Given the description of an element on the screen output the (x, y) to click on. 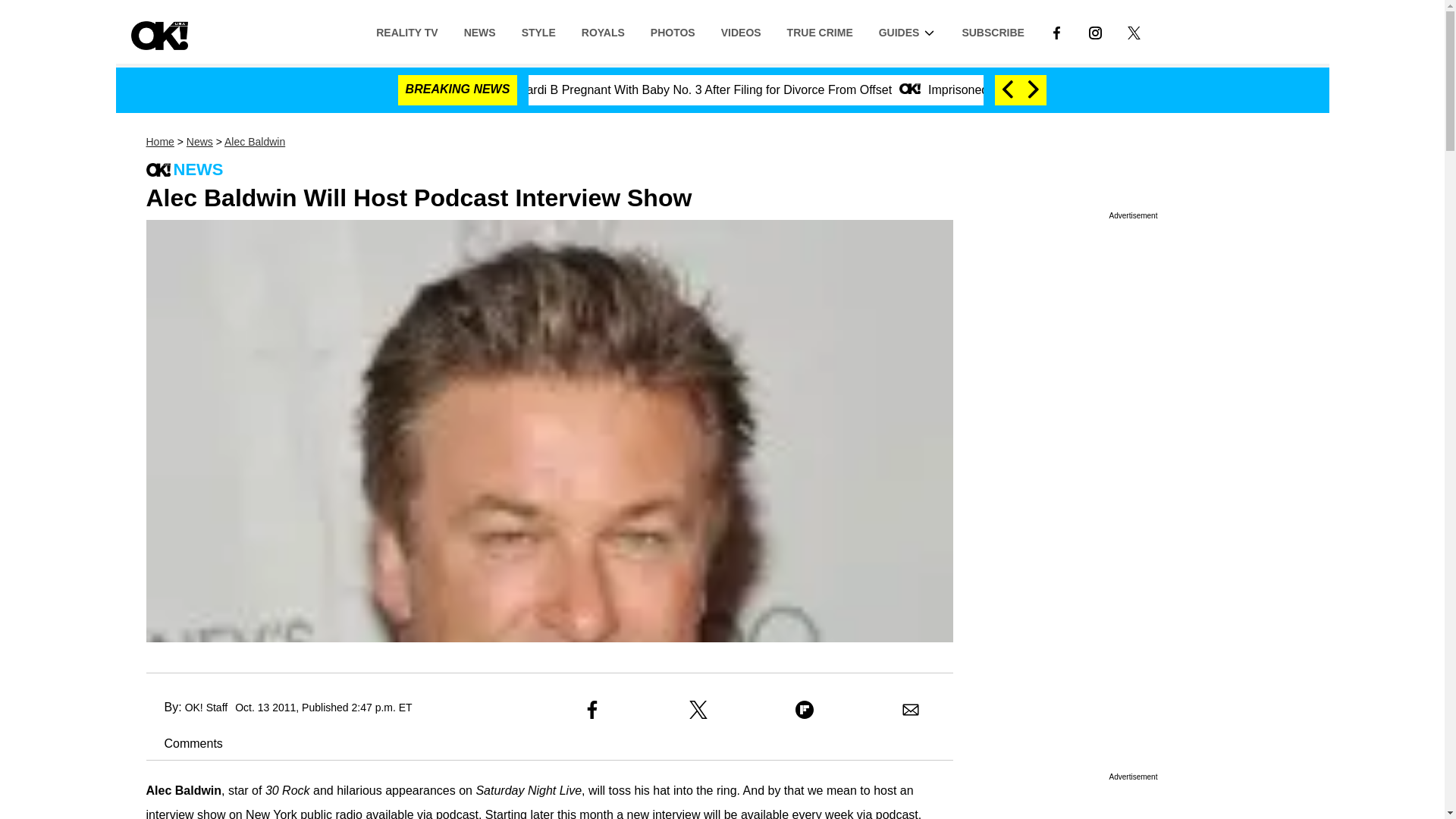
Share to Flipboard (803, 710)
NEWS (479, 31)
LINK TO INSTAGRAM (1095, 31)
Share to Facebook (590, 710)
LINK TO X (1133, 32)
STYLE (538, 31)
SUBSCRIBE (992, 31)
News (199, 141)
PHOTOS (672, 31)
REALITY TV (405, 31)
